Given the description of an element on the screen output the (x, y) to click on. 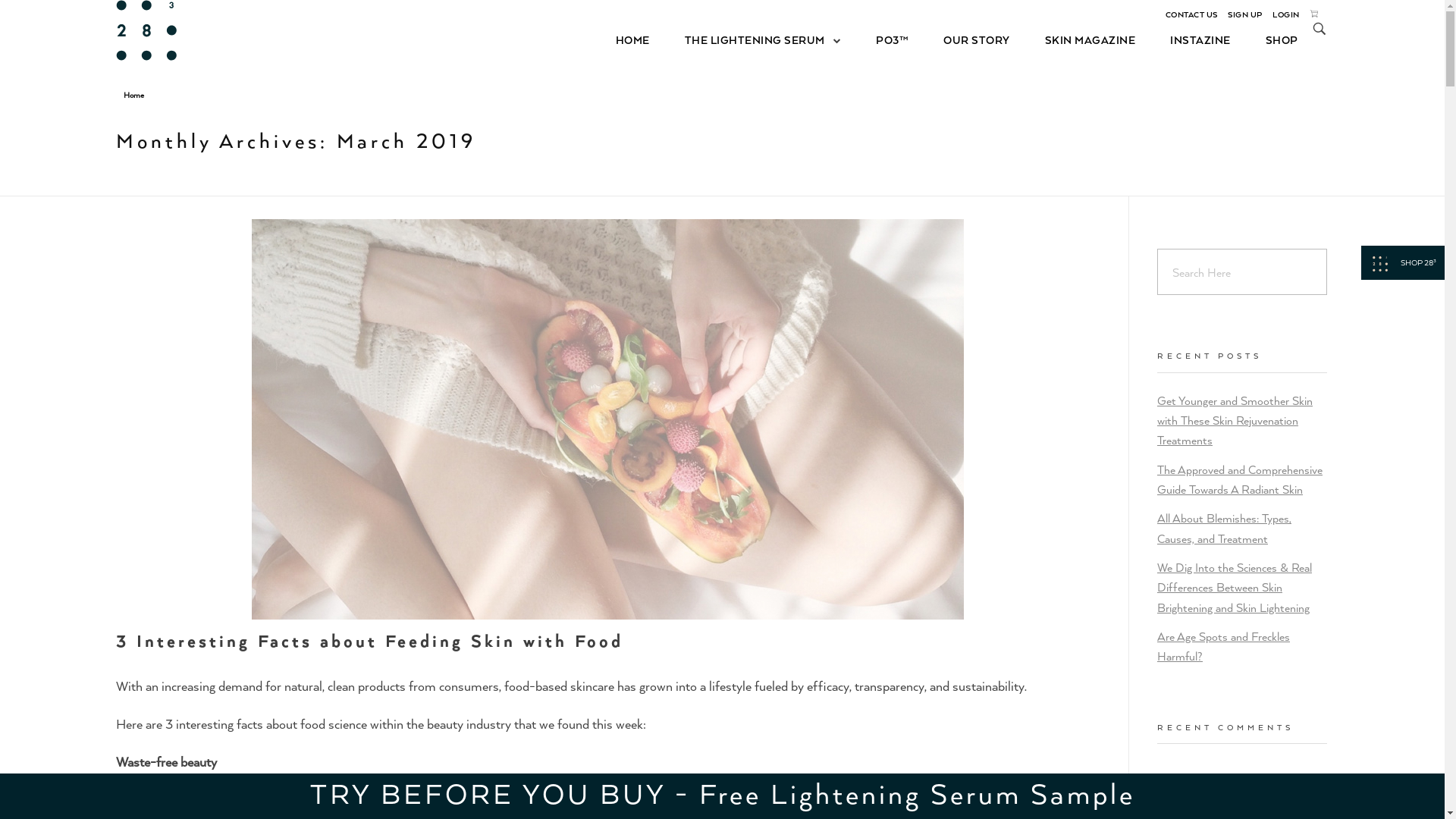
SKIN MAGAZINE Element type: text (1089, 39)
Home Element type: text (132, 94)
THE LIGHTENING SERUM Element type: text (763, 39)
INSTAZINE Element type: text (1199, 39)
All About Blemishes: Types, Causes, and Treatment Element type: text (1224, 527)
Search Element type: text (43, 14)
HOME Element type: text (641, 39)
SHOP Element type: text (1273, 39)
LOGIN Element type: text (1285, 14)
3 Interesting Facts about Feeding Skin with Food Element type: text (368, 640)
OUR STORY Element type: text (975, 39)
SIGN UP Element type: text (1244, 14)
Are Age Spots and Freckles Harmful? Element type: text (1223, 645)
CONTACT US Element type: text (1190, 14)
The Approved and Comprehensive Guide Towards A Radiant Skin Element type: text (1239, 478)
TRY BEFORE YOU BUY - Free Lightening Serum Sample Element type: text (721, 792)
